Given the description of an element on the screen output the (x, y) to click on. 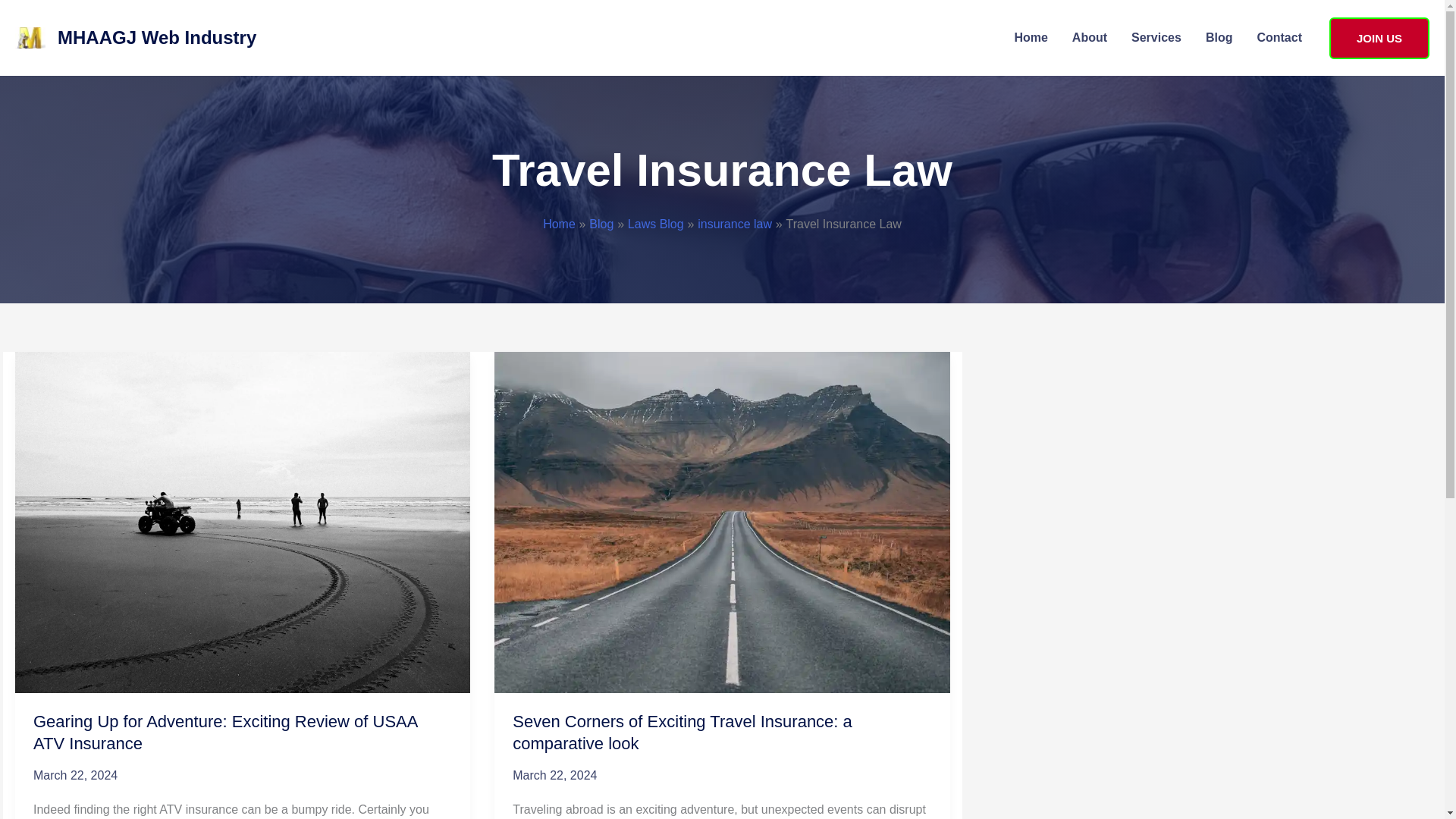
insurance law (734, 223)
Home (559, 223)
Blog (600, 223)
MHAAGJ Web Industry (157, 37)
Contact (1279, 38)
JOIN US (1379, 37)
Services (1156, 38)
Laws Blog (655, 223)
